Given the description of an element on the screen output the (x, y) to click on. 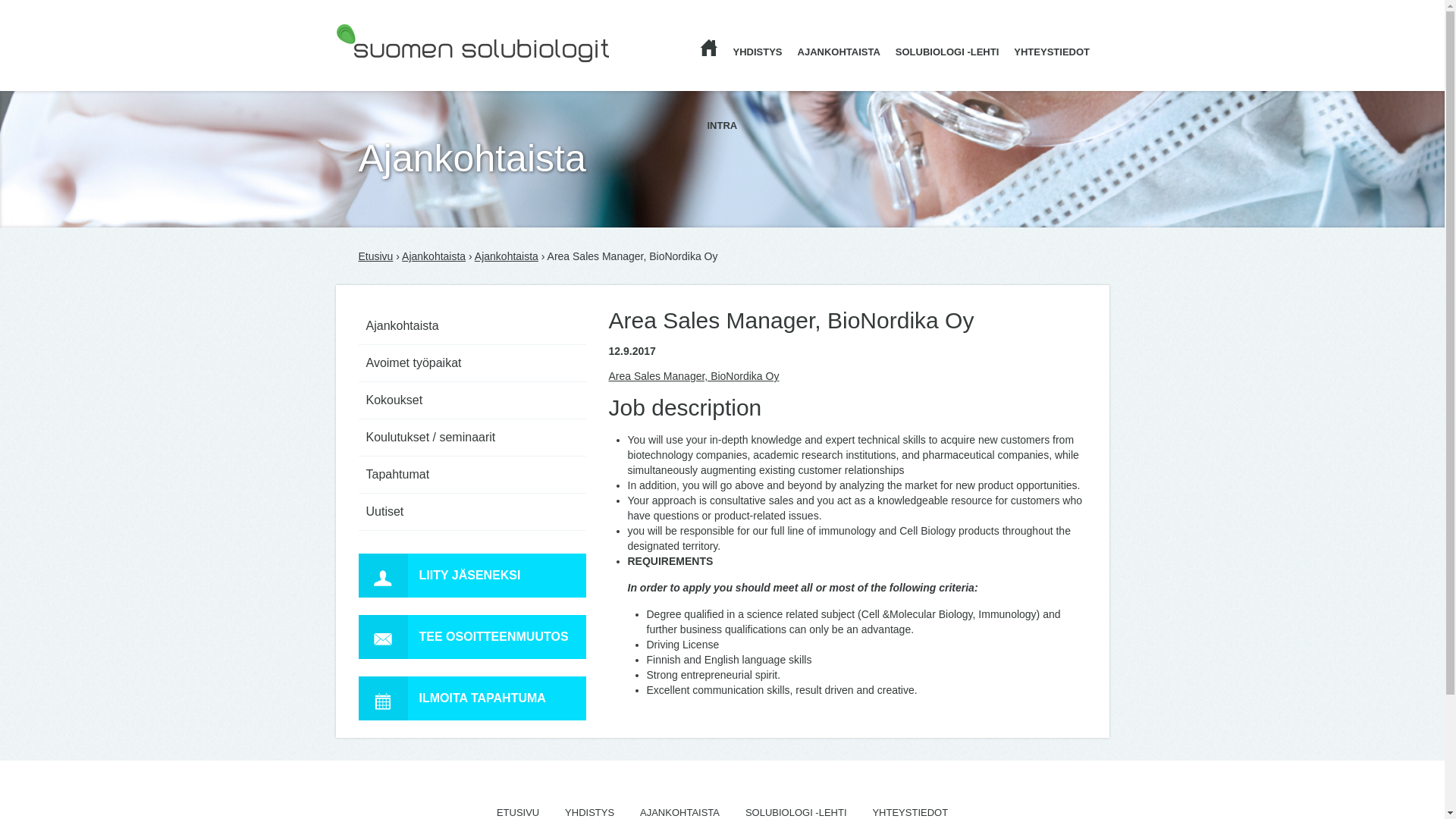
YHDISTYS (589, 812)
Kokoukset (471, 400)
TEE OSOITTEENMUUTOS (471, 637)
Tapahtumat (471, 474)
ETUSIVU (517, 812)
Etusivu (375, 256)
SOLUBIOLOGI -LEHTI (796, 812)
ETUSIVU (719, 53)
Area Sales Manager, BioNordika Oy (693, 376)
Suomen Solubiologit ry (471, 47)
